Given the description of an element on the screen output the (x, y) to click on. 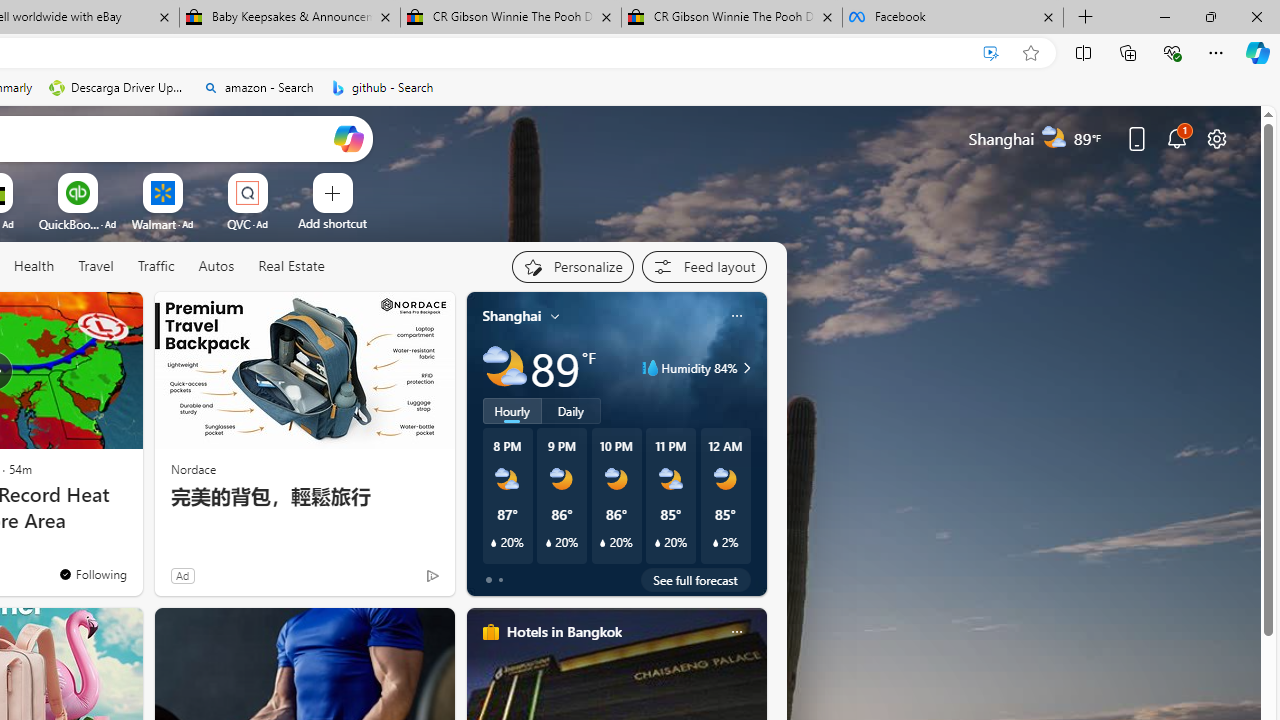
Travel (95, 265)
Health (33, 267)
Facebook (953, 17)
More Options (279, 179)
Traffic (155, 265)
Shanghai (511, 315)
Class: icon-img (736, 632)
See full forecast (695, 579)
